Given the description of an element on the screen output the (x, y) to click on. 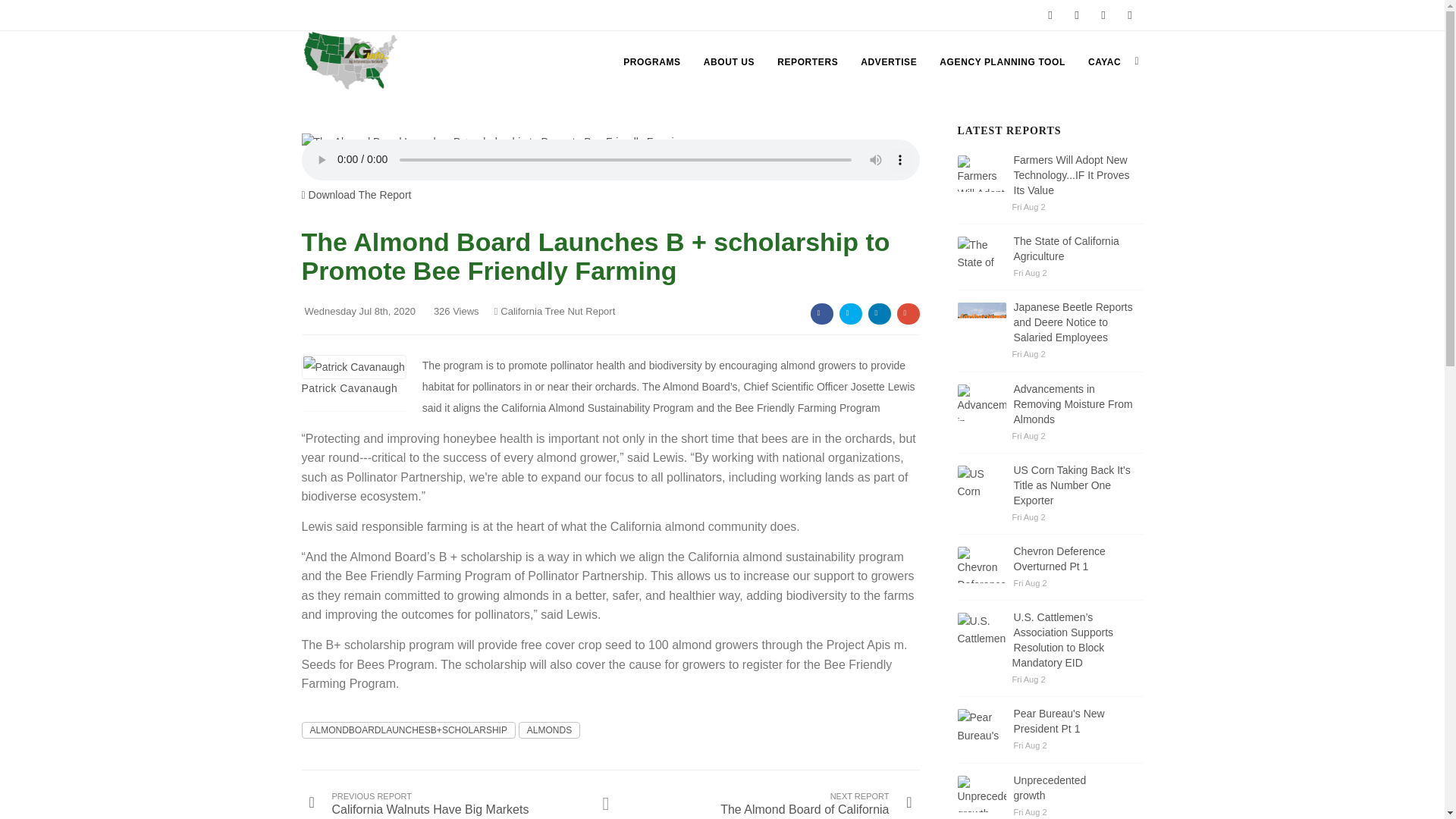
PROGRAMS (651, 62)
ABOUT US (728, 62)
